Given the description of an element on the screen output the (x, y) to click on. 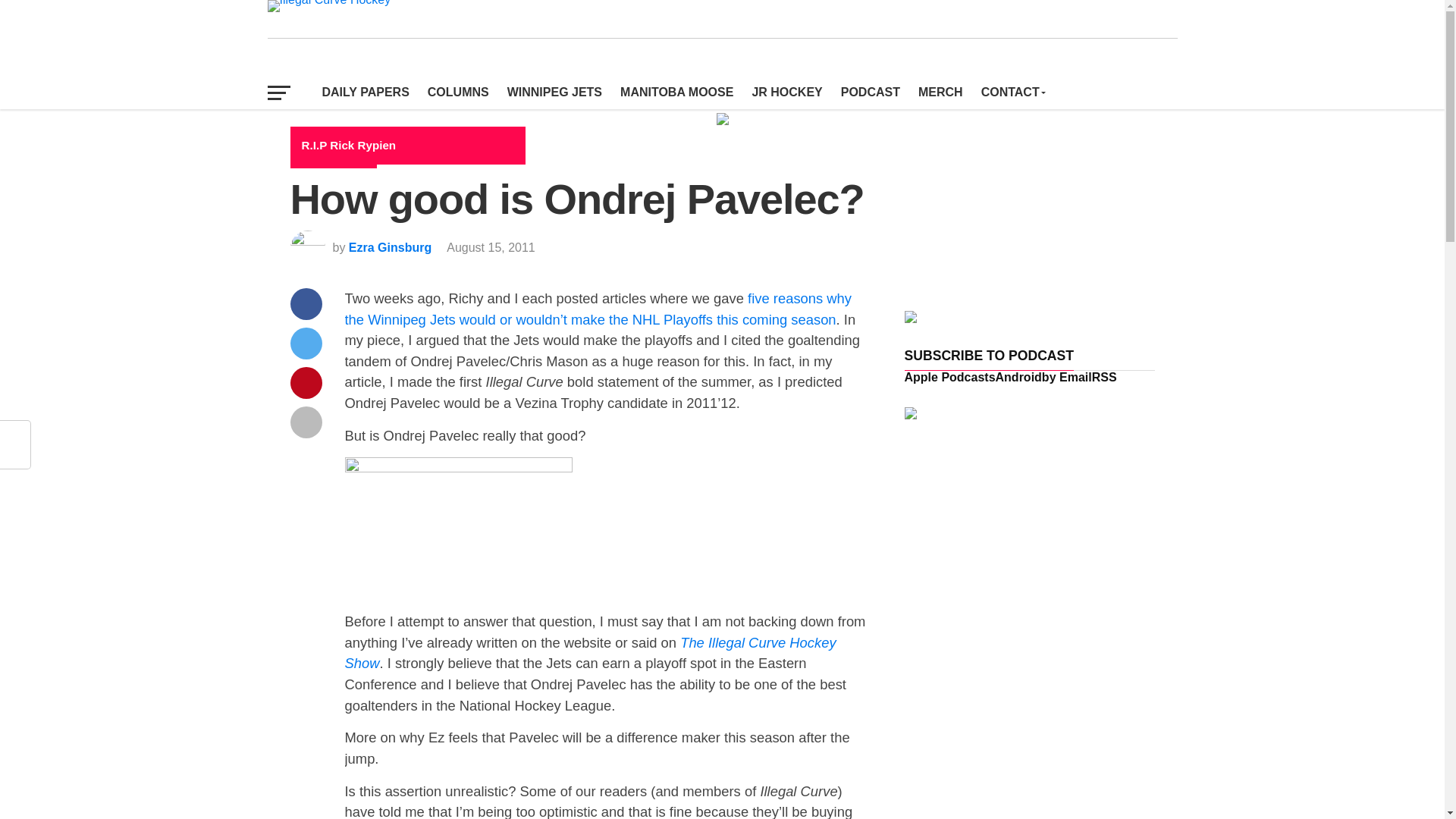
Ezra Ginsburg (389, 246)
Subscribe on Apple Podcasts (949, 377)
COLUMNS (458, 92)
ondrej-pavelec (457, 528)
PODCAST (869, 92)
Posts by Ezra Ginsburg (389, 246)
MANITOBA MOOSE (676, 92)
Subscribe on Android (1018, 377)
Subscribe via RSS (1104, 377)
CONTACT (1012, 92)
WINNIPEG JETS (554, 92)
Subscribe by Email (1067, 377)
The Illegal Curve Hockey Show (589, 652)
MERCH (940, 92)
DAILY PAPERS (365, 92)
